Given the description of an element on the screen output the (x, y) to click on. 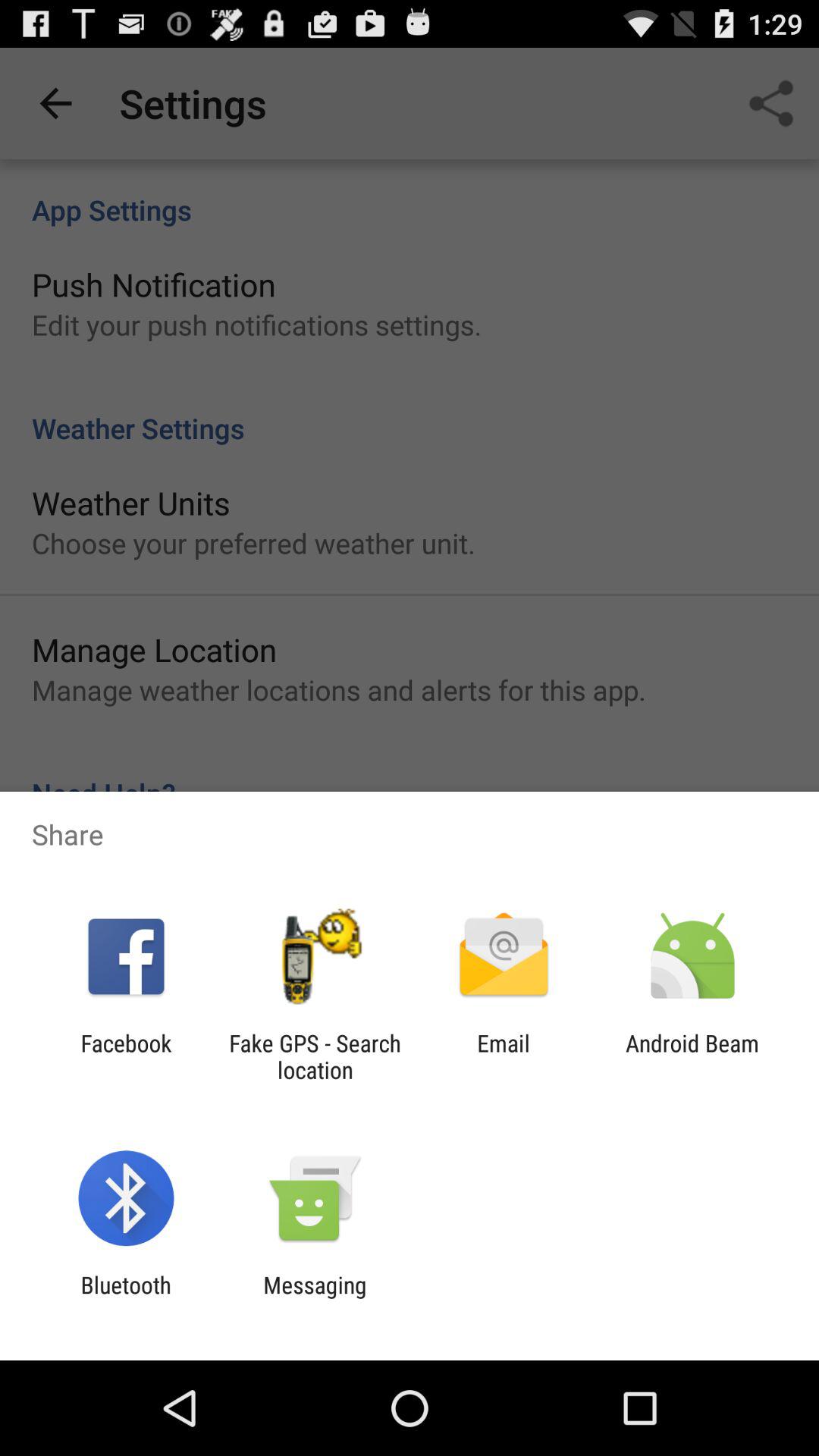
press the item next to bluetooth item (314, 1298)
